Given the description of an element on the screen output the (x, y) to click on. 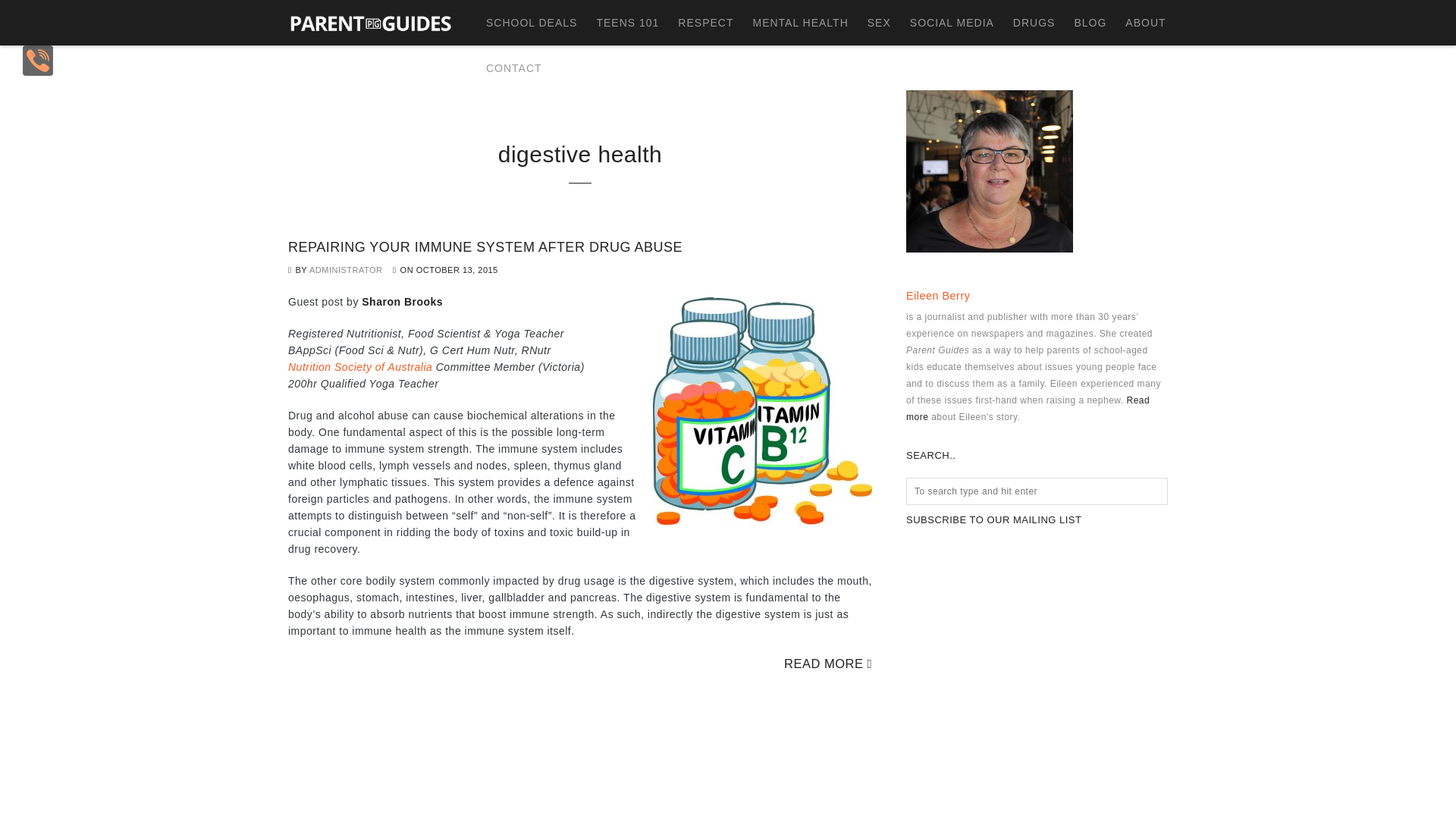
Nutrition Society of Australia (360, 367)
SCHOOL DEALS (521, 22)
Search for: (1036, 491)
RESPECT (696, 22)
Posts by administrator (345, 269)
SEX (869, 22)
MENTAL HEALTH (790, 22)
Parent Guides (369, 22)
TEENS 101 (617, 22)
